Given the description of an element on the screen output the (x, y) to click on. 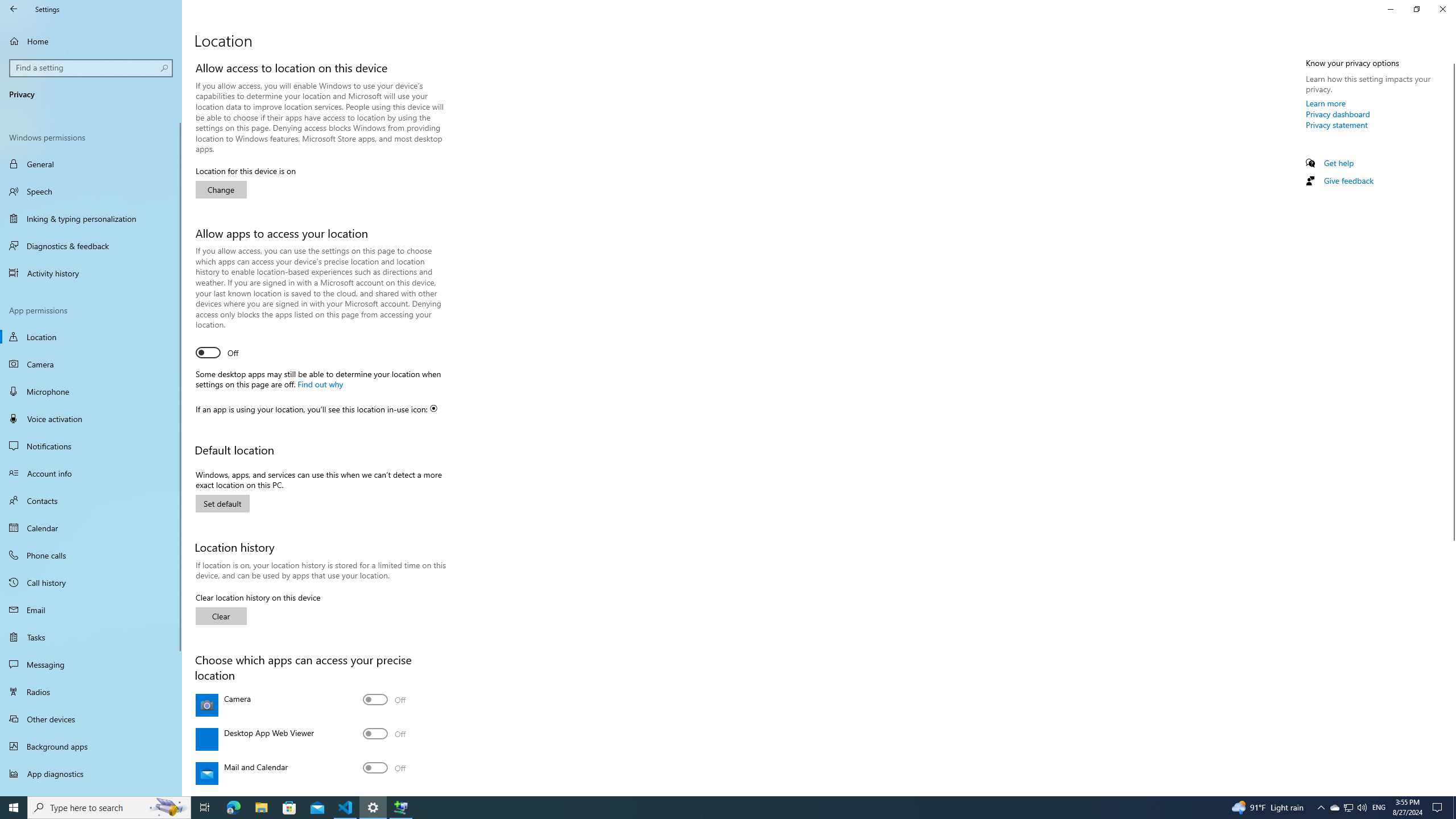
Messaging (91, 664)
Voice activation (91, 418)
Restore Settings (1416, 9)
App diagnostics (91, 773)
